Given the description of an element on the screen output the (x, y) to click on. 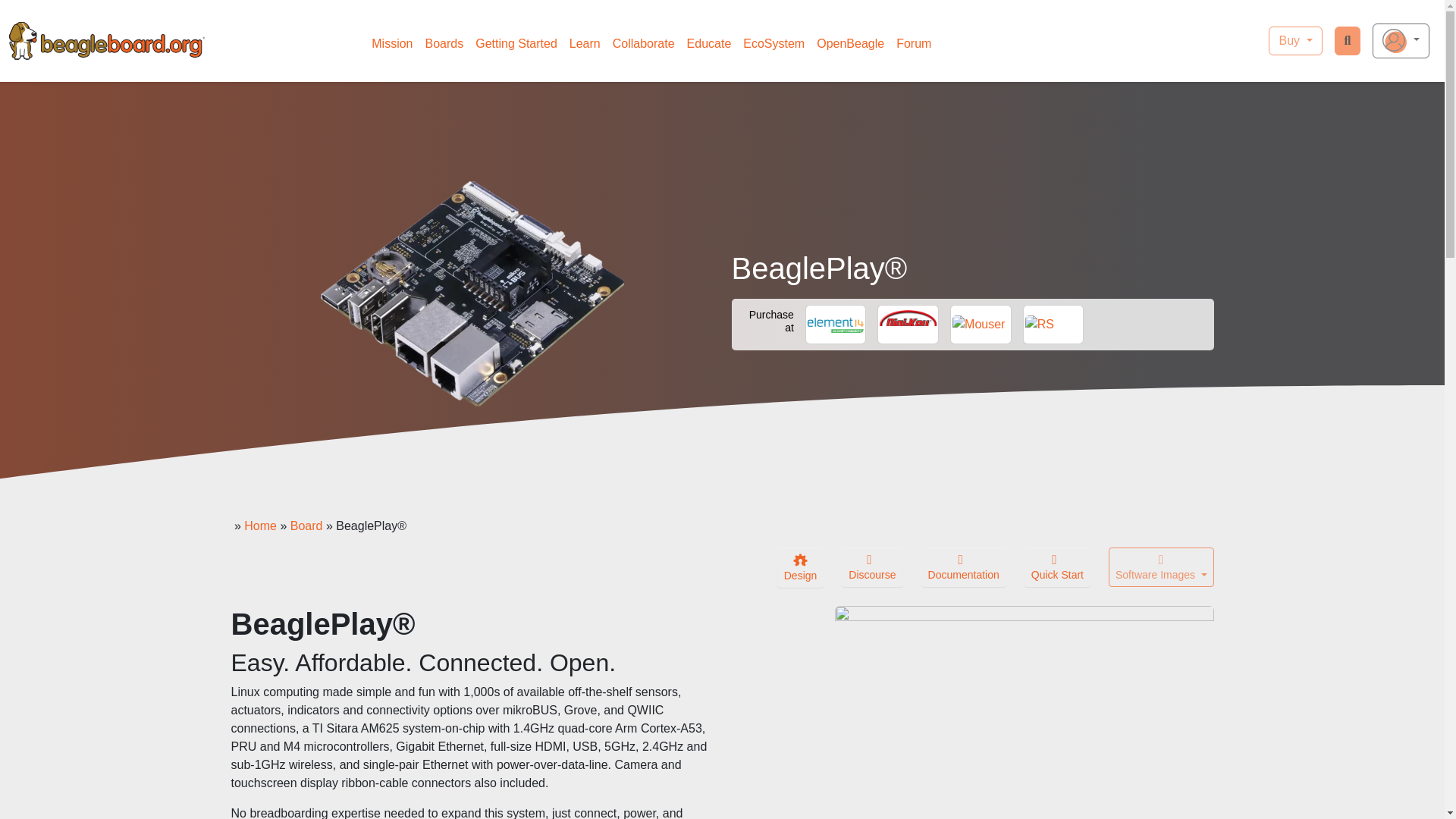
Collaborate (644, 43)
Educate (709, 43)
Mission (392, 43)
Learn (585, 43)
Boards (443, 43)
Getting Started (515, 43)
Toggle search (1348, 40)
OpenBeagle (849, 43)
Buy (1295, 40)
EcoSystem (773, 43)
